Given the description of an element on the screen output the (x, y) to click on. 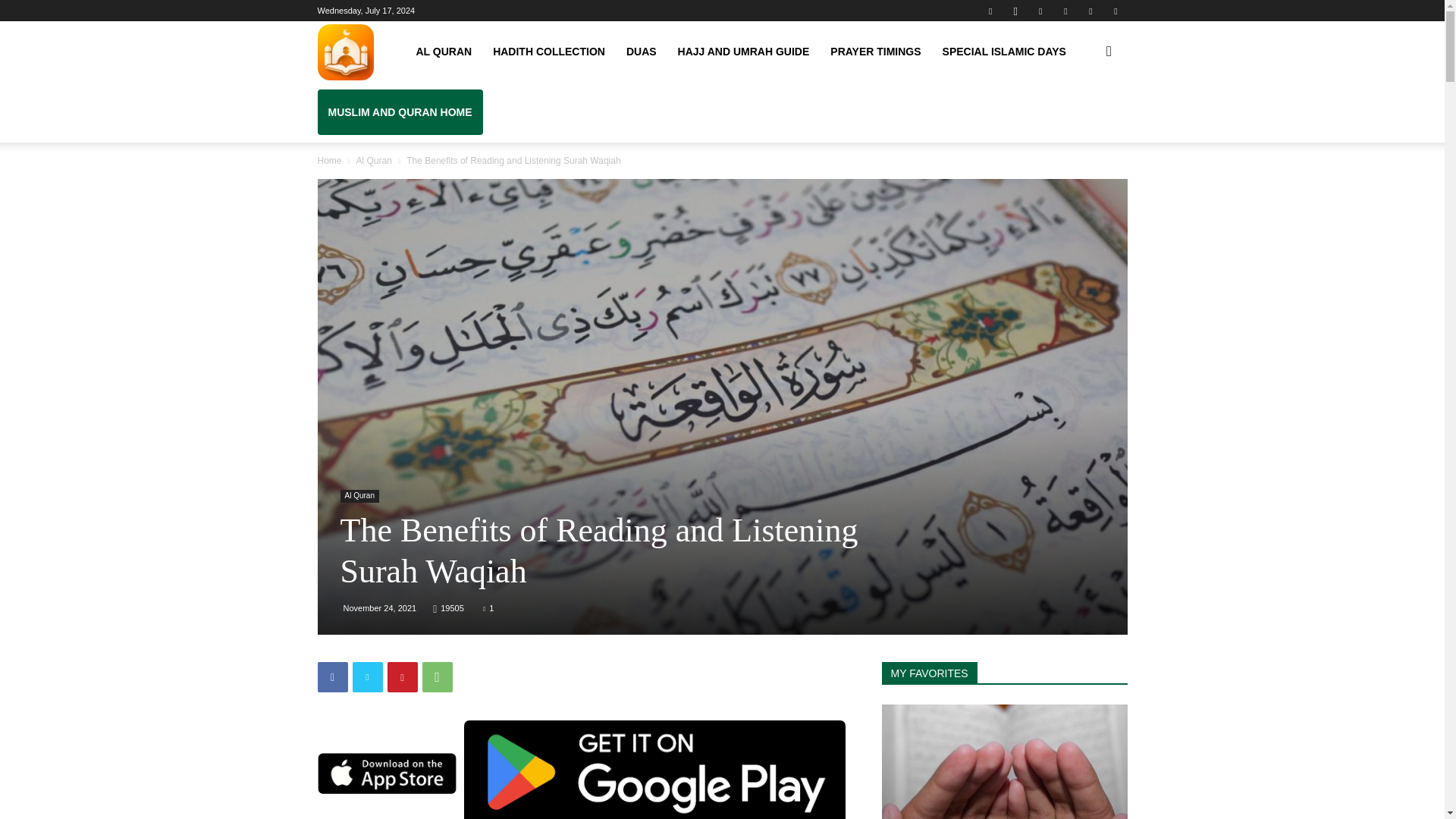
Al Quran (373, 160)
View all posts in Al Quran (373, 160)
Muslim and Quran (344, 51)
PRAYER TIMINGS (875, 51)
TikTok (1065, 10)
Home (328, 160)
Pinterest (1040, 10)
Youtube (1114, 10)
Facebook (989, 10)
HADITH COLLECTION (548, 51)
SPECIAL ISLAMIC DAYS (1004, 51)
Search (1085, 124)
Instagram (1015, 10)
AL QURAN (442, 51)
Muslim and Quran (344, 52)
